Given the description of an element on the screen output the (x, y) to click on. 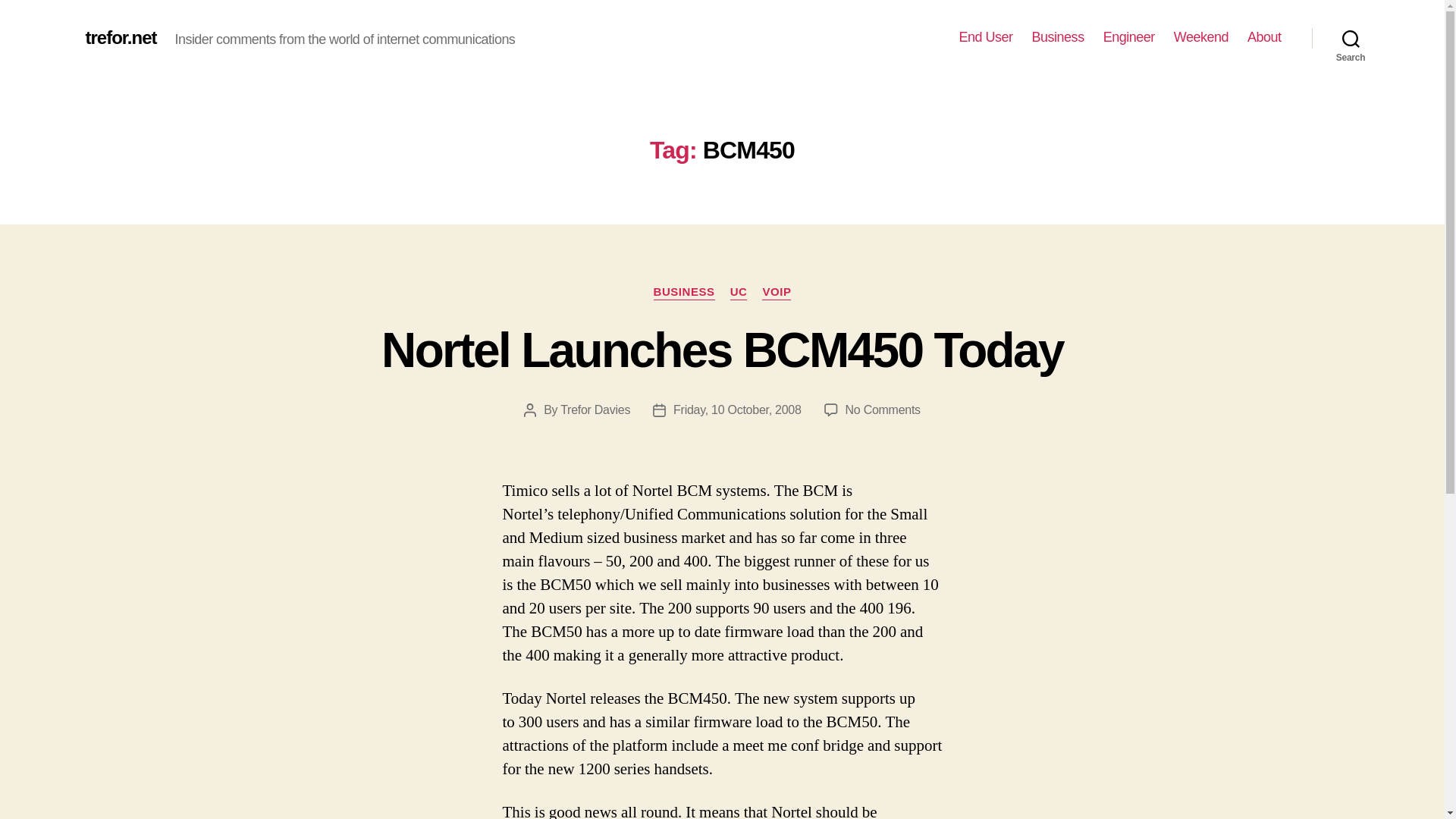
UC (739, 292)
trefor.net (119, 37)
Engineer (1128, 37)
Trefor Davies (595, 409)
About (1264, 37)
Weekend (1200, 37)
VOIP (775, 292)
End User (986, 37)
Nortel Launches BCM450 Today (721, 349)
Search (1350, 37)
Business (1058, 37)
BUSINESS (683, 292)
